Given the description of an element on the screen output the (x, y) to click on. 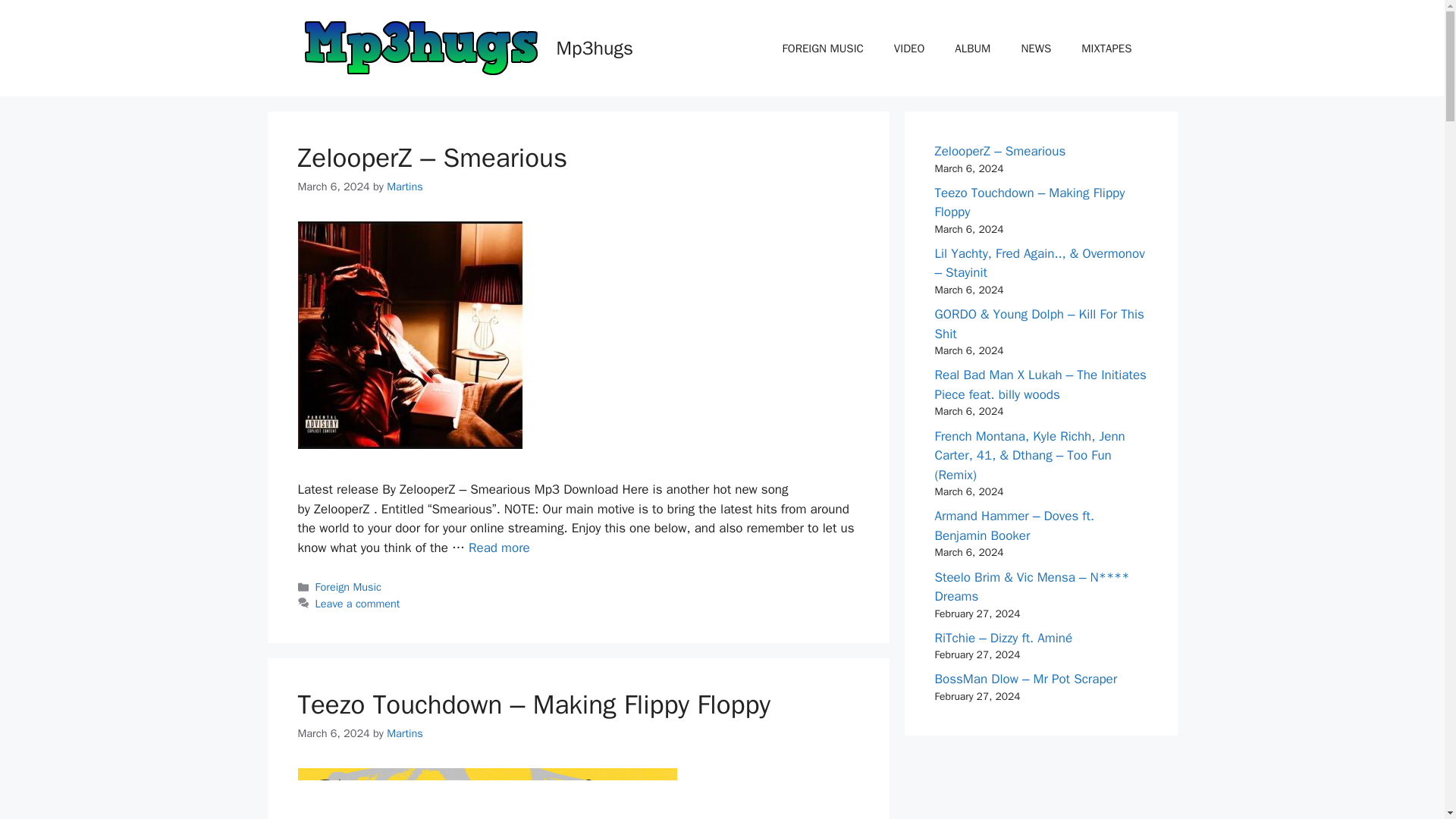
Mp3hugs (594, 47)
View all posts by Martins (405, 733)
Martins (405, 733)
VIDEO (909, 48)
ALBUM (972, 48)
Martins (405, 186)
NEWS (1035, 48)
Foreign Music (348, 586)
Leave a comment (357, 603)
MIXTAPES (1106, 48)
Read more (498, 547)
FOREIGN MUSIC (823, 48)
View all posts by Martins (405, 186)
